Given the description of an element on the screen output the (x, y) to click on. 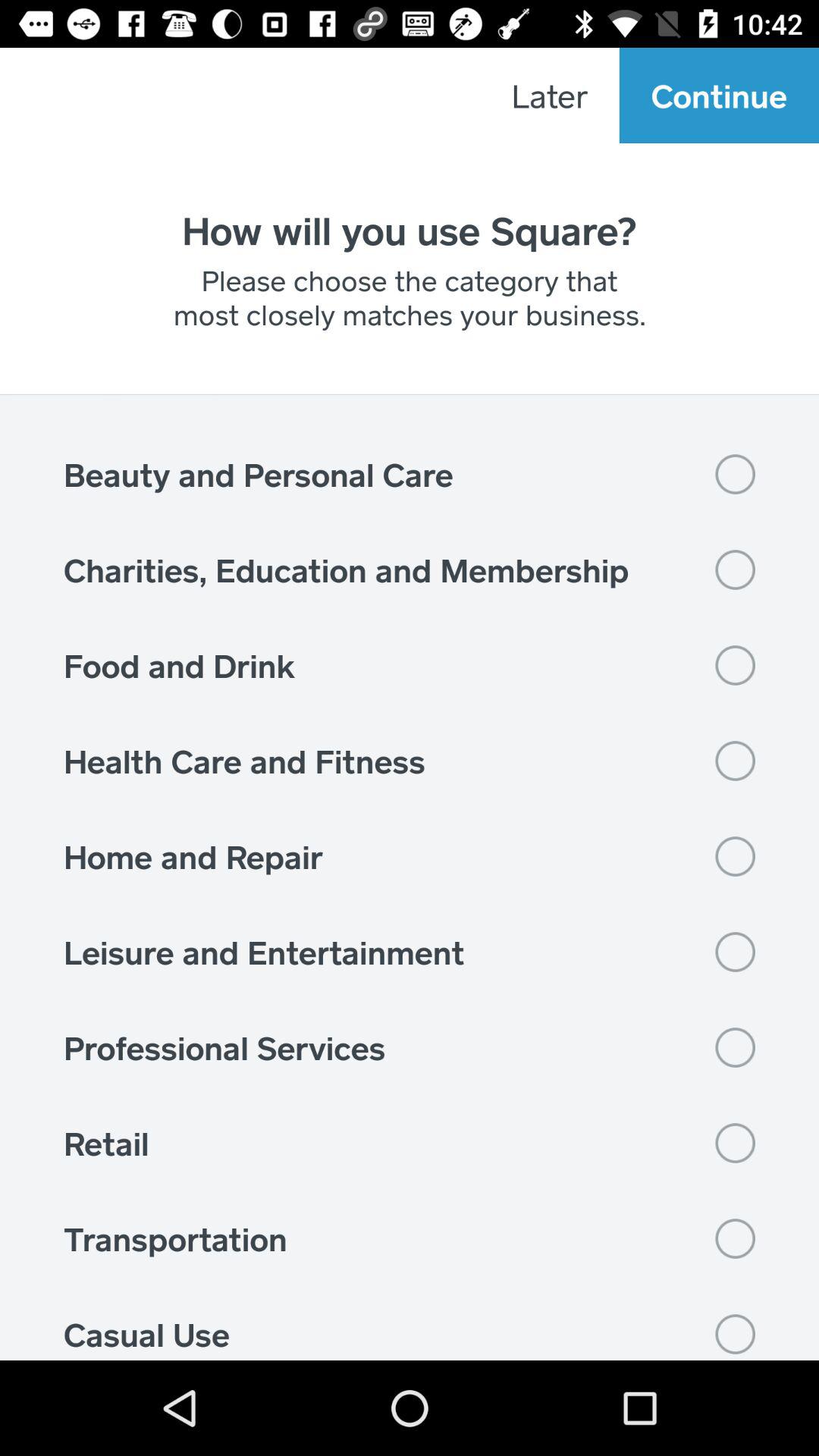
scroll until how will you (409, 230)
